Given the description of an element on the screen output the (x, y) to click on. 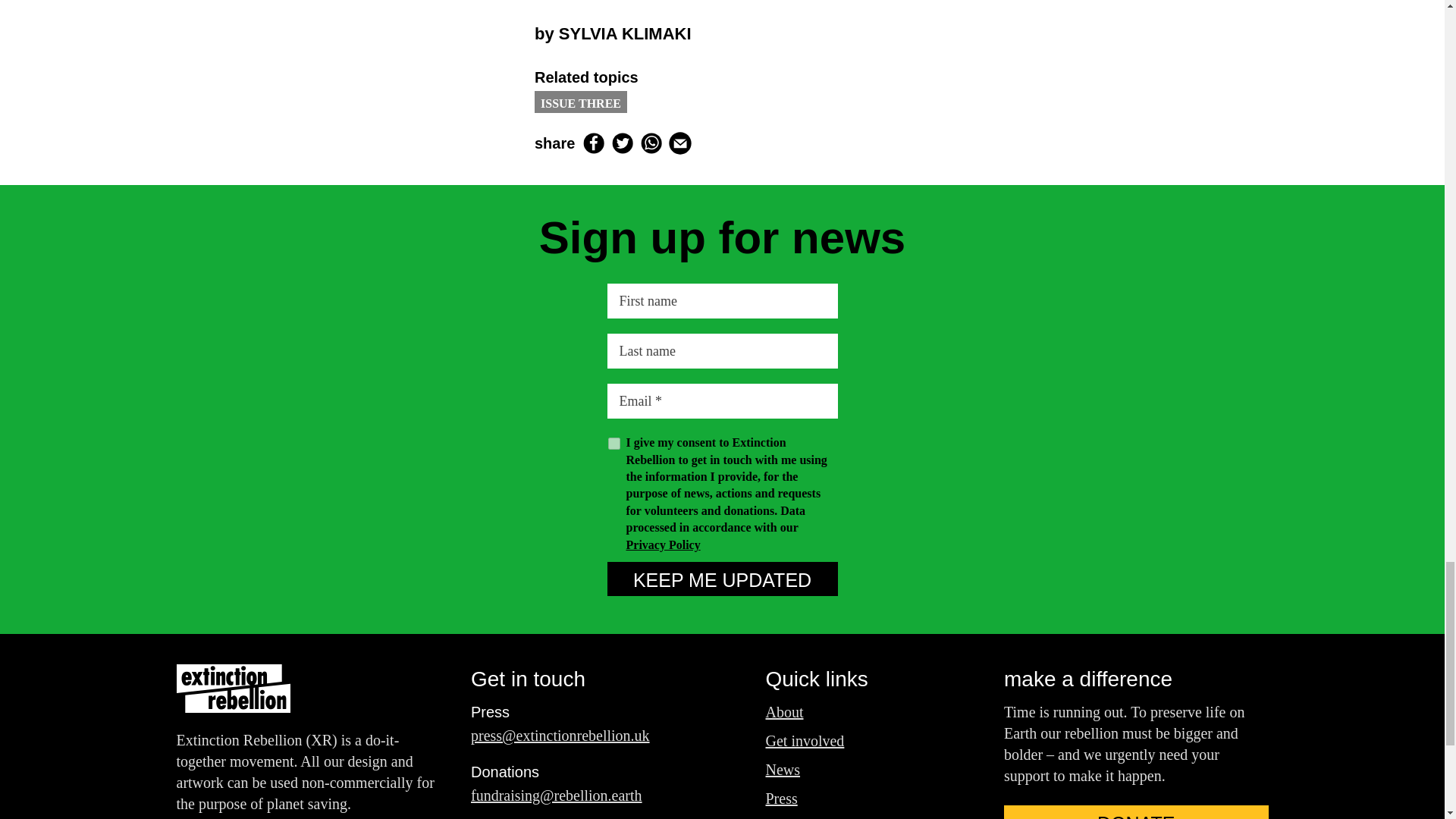
Keep me updated (722, 578)
Yes (614, 443)
